Given the description of an element on the screen output the (x, y) to click on. 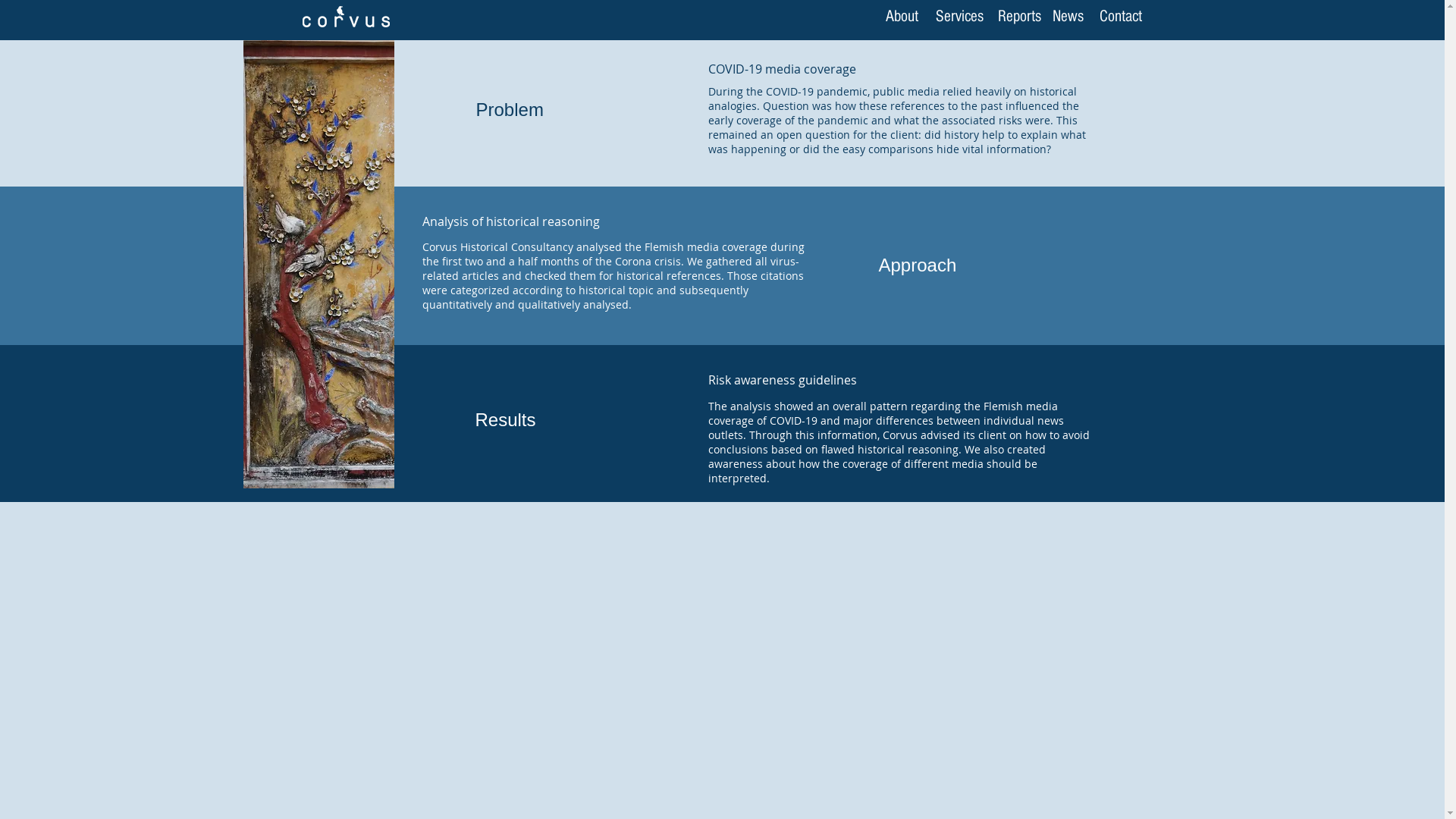
Contact Element type: text (1121, 16)
Reports Element type: text (1018, 16)
About Element type: text (901, 16)
News Element type: text (1067, 16)
Services Element type: text (959, 16)
